Given the description of an element on the screen output the (x, y) to click on. 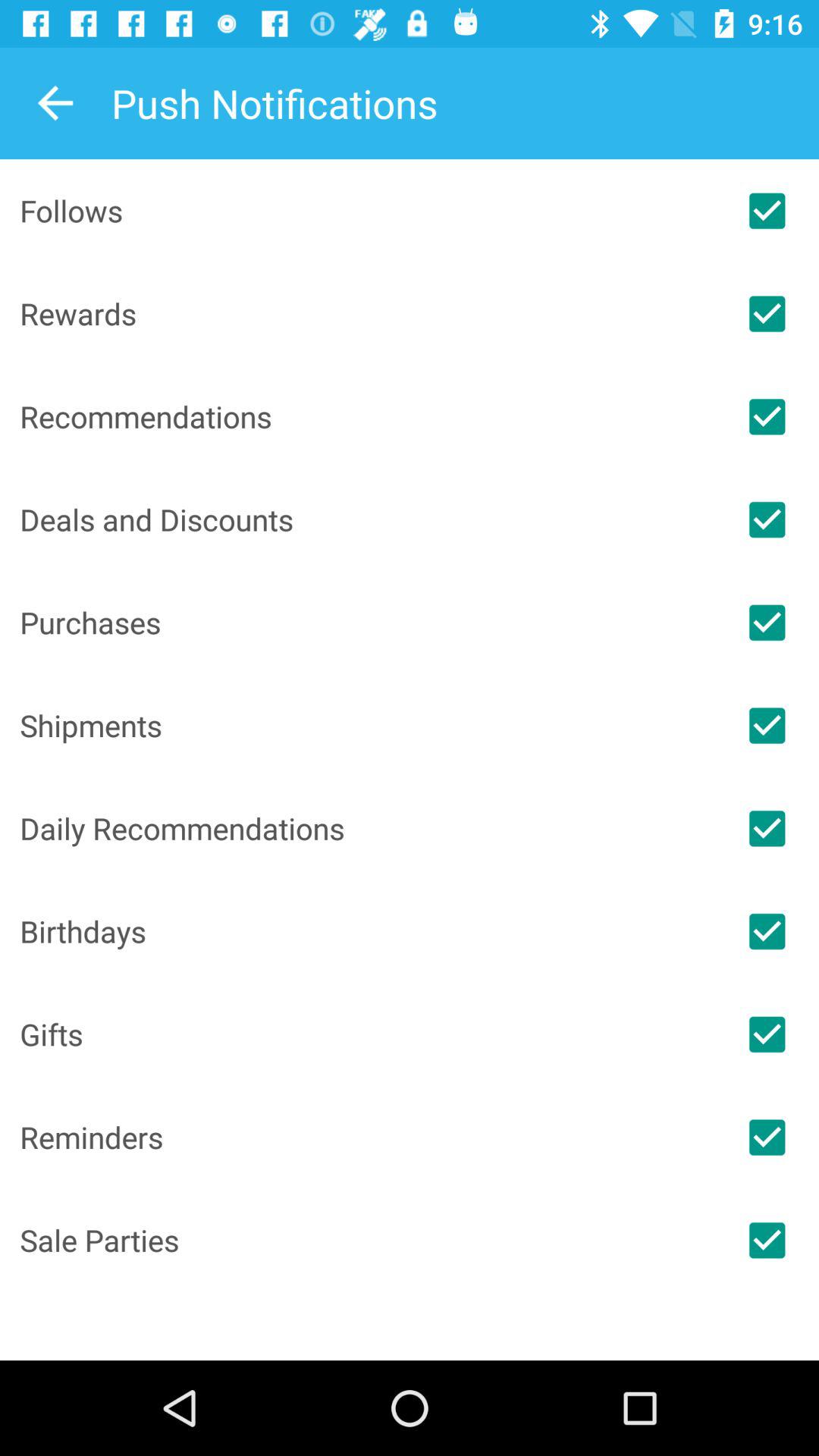
scroll to sale parties item (367, 1239)
